Given the description of an element on the screen output the (x, y) to click on. 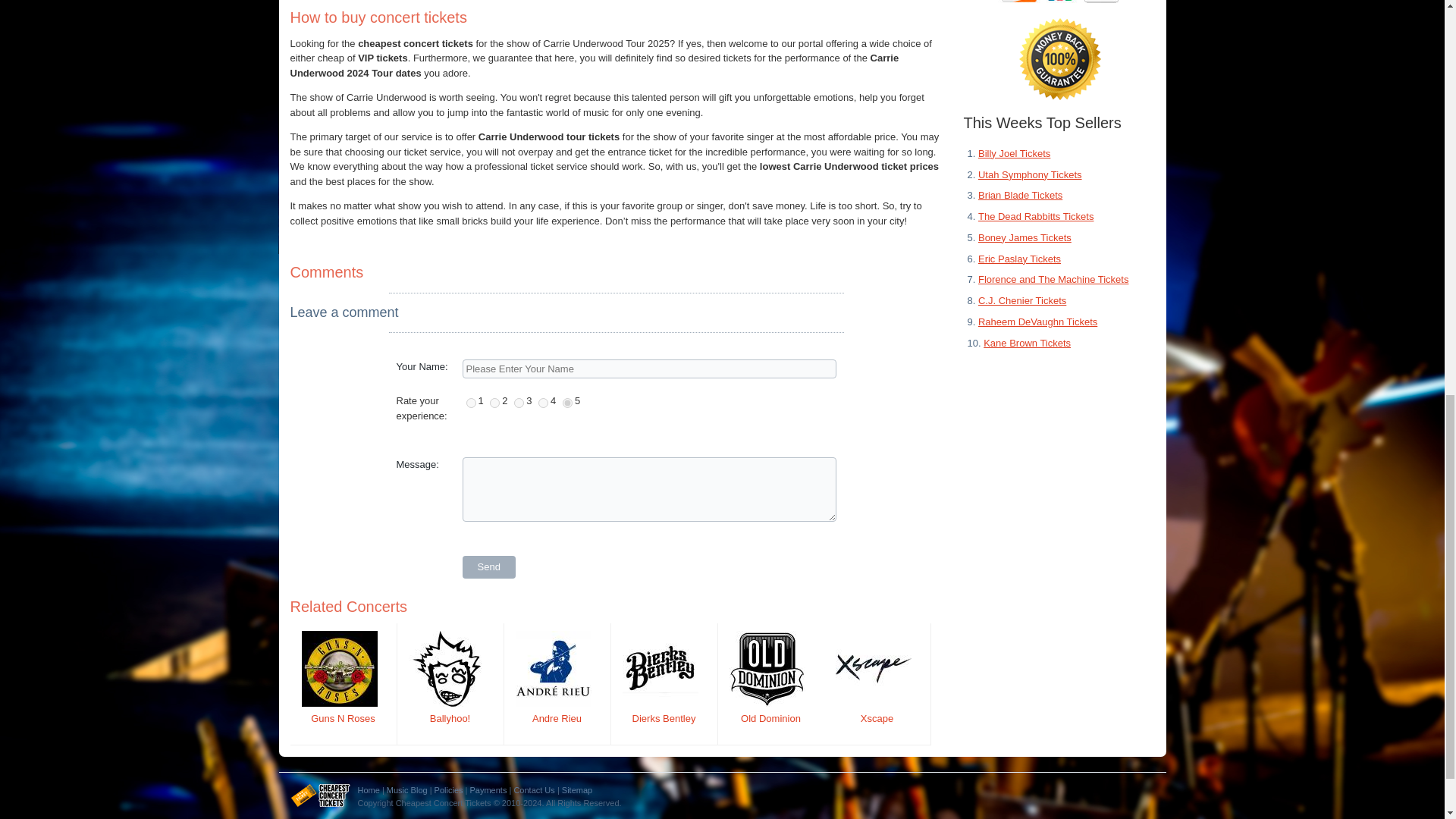
Xscape (876, 717)
Boney James Tickets (1024, 237)
Old Dominion (770, 717)
Policies (448, 789)
Kane Brown Tickets (1027, 342)
Brian Blade Tickets (1020, 194)
Eric Paslay Tickets (1019, 258)
Home (369, 789)
Ballyhoo! (449, 717)
Payments (488, 789)
